Given the description of an element on the screen output the (x, y) to click on. 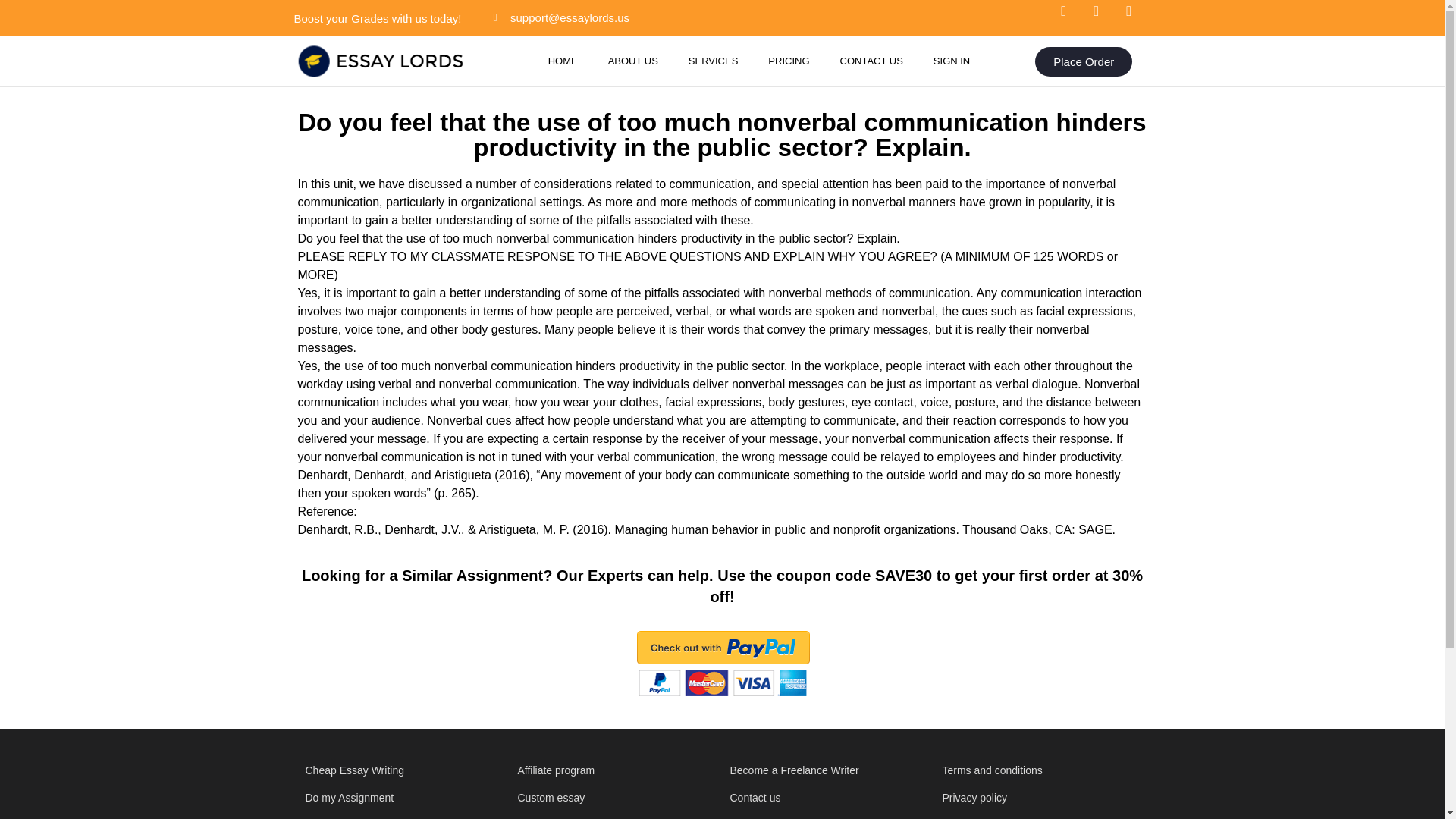
PRICING (788, 61)
SERVICES (713, 61)
ABOUT US (632, 61)
Place Order (1083, 61)
CONTACT US (871, 61)
HOME (562, 61)
SIGN IN (951, 61)
